Given the description of an element on the screen output the (x, y) to click on. 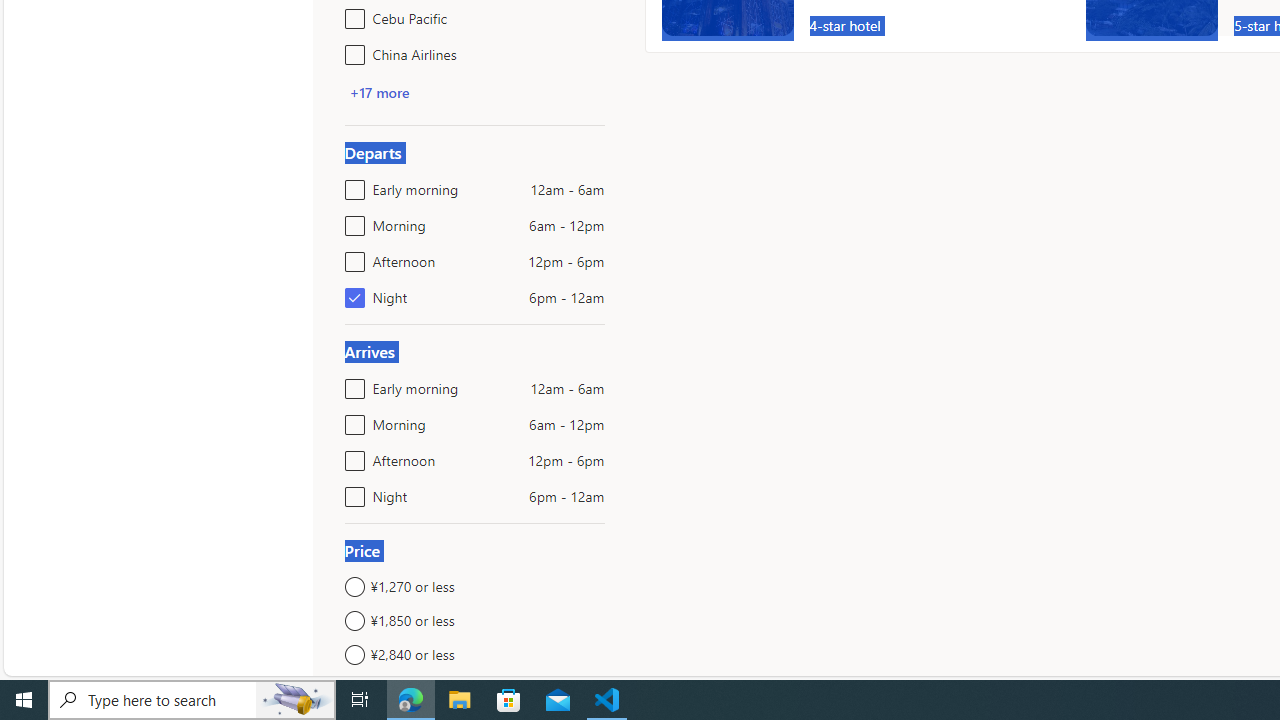
Morning6am - 12pm (351, 420)
China Airlines (351, 50)
Any price (474, 688)
Cebu Pacific (351, 14)
Afternoon12pm - 6pm (351, 456)
+17 more (379, 92)
Early morning12am - 6am (351, 384)
Night6pm - 12am (351, 492)
